Given the description of an element on the screen output the (x, y) to click on. 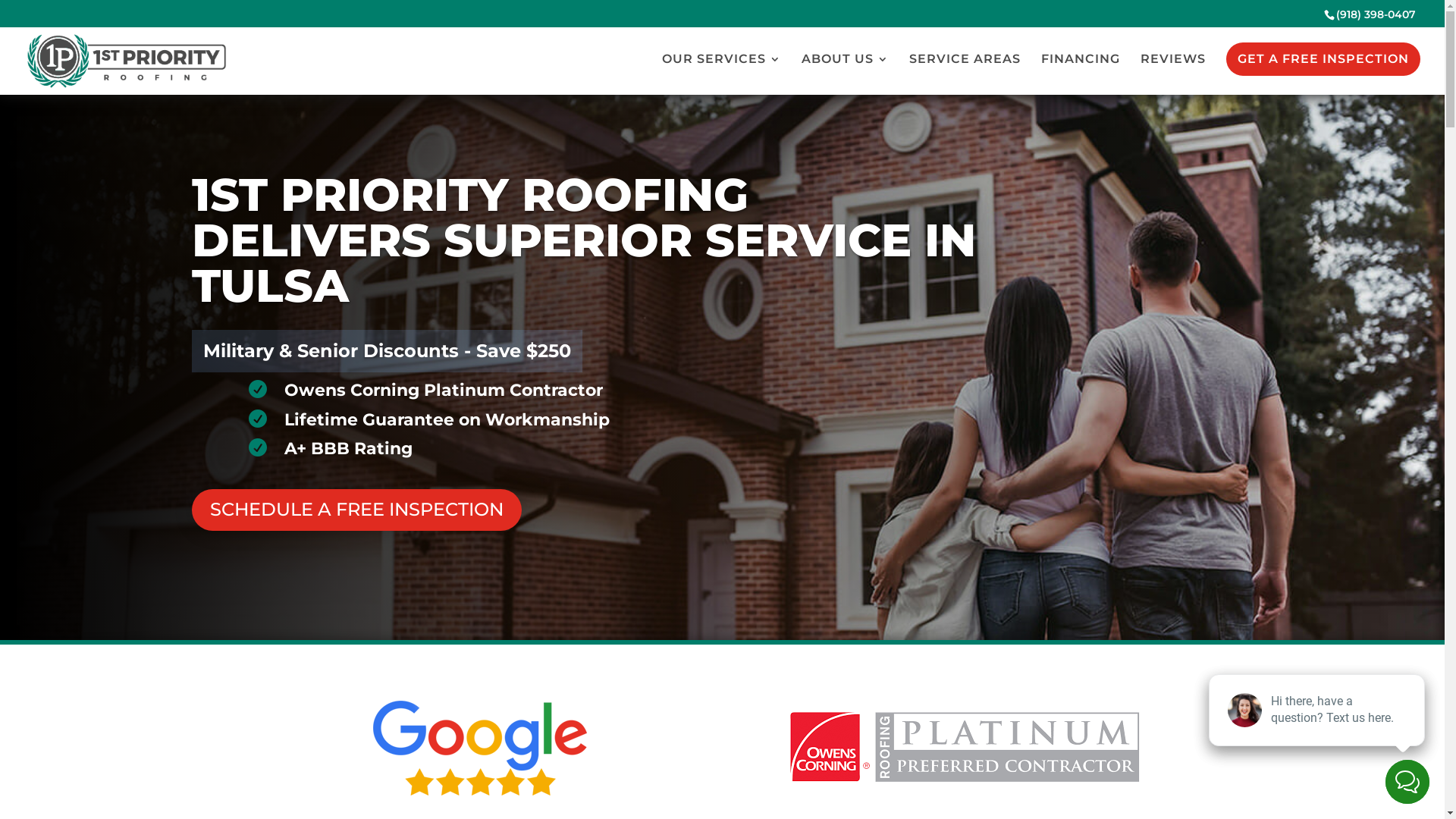
SERVICE AREAS Element type: text (964, 73)
FINANCING Element type: text (1080, 73)
OUR SERVICES Element type: text (721, 73)
ABOUT US Element type: text (844, 73)
REVIEWS Element type: text (1172, 73)
SCHEDULE A FREE INSPECTION Element type: text (355, 509)
OC Element type: hover (964, 748)
GET A FREE INSPECTION Element type: text (1323, 58)
google-review Element type: hover (479, 748)
